Given the description of an element on the screen output the (x, y) to click on. 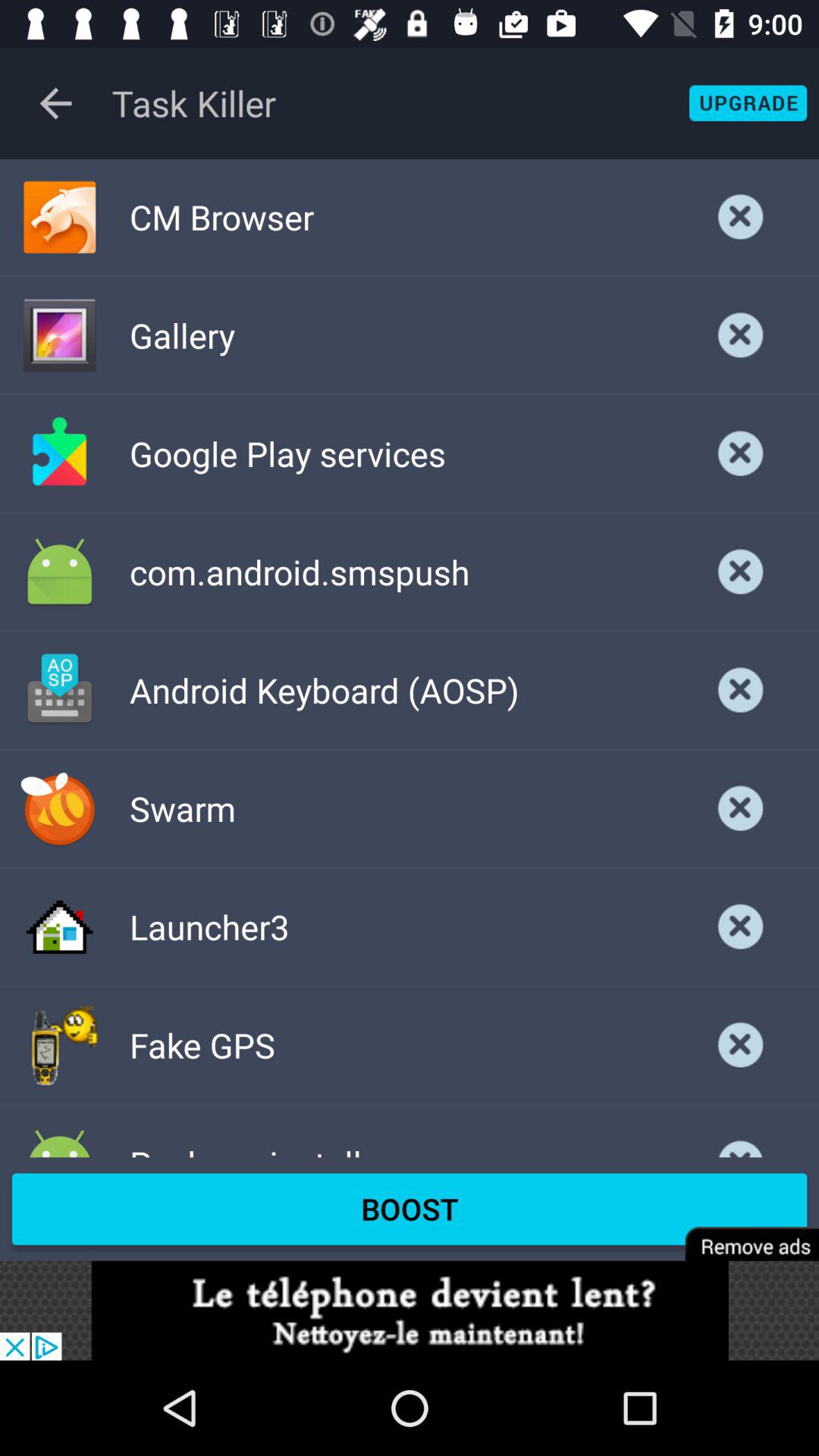
close button (740, 808)
